Given the description of an element on the screen output the (x, y) to click on. 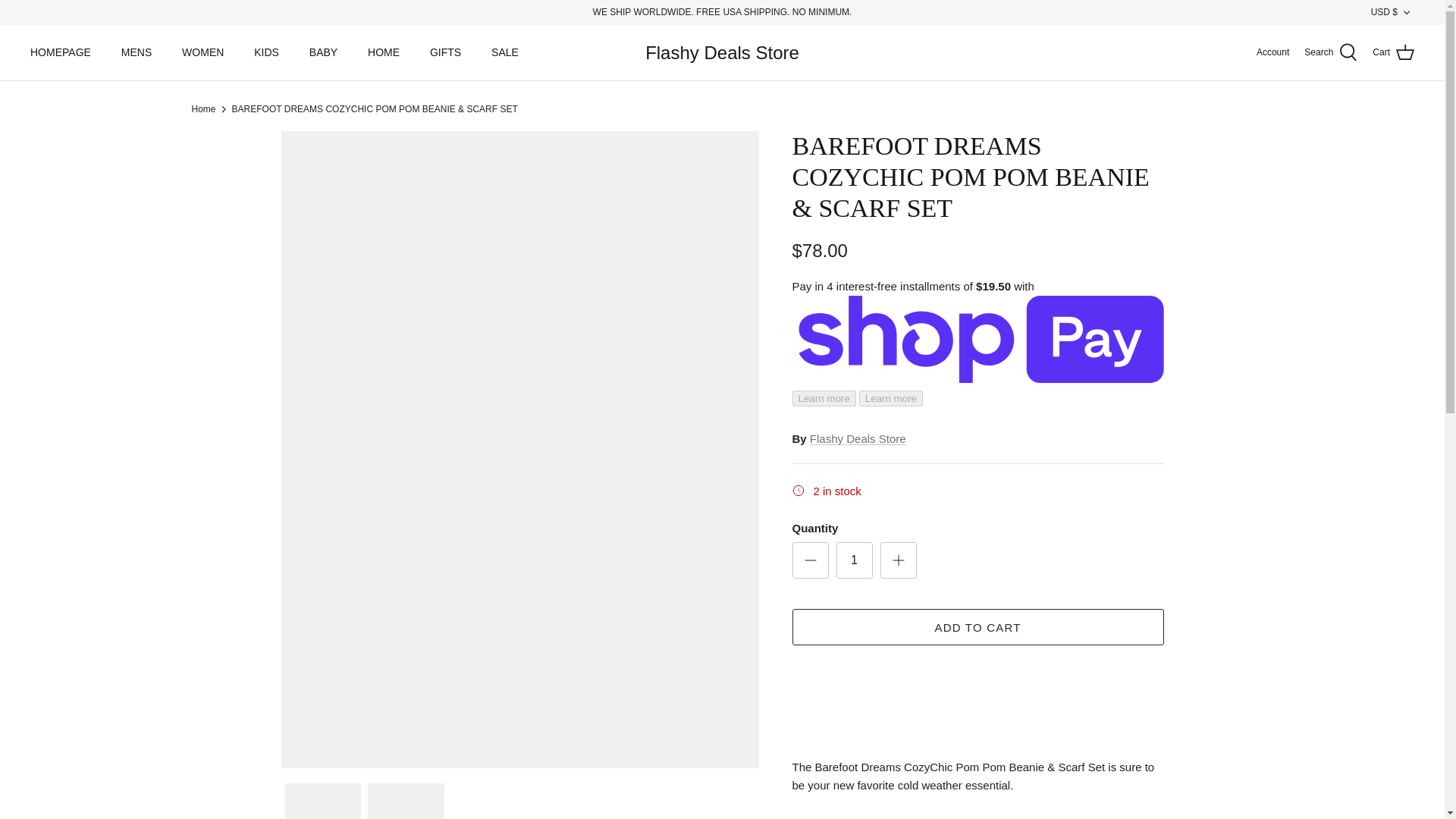
1 (853, 560)
Down (1406, 12)
Plus (897, 560)
Minus (809, 560)
Flashy Deals Store (722, 53)
